Given the description of an element on the screen output the (x, y) to click on. 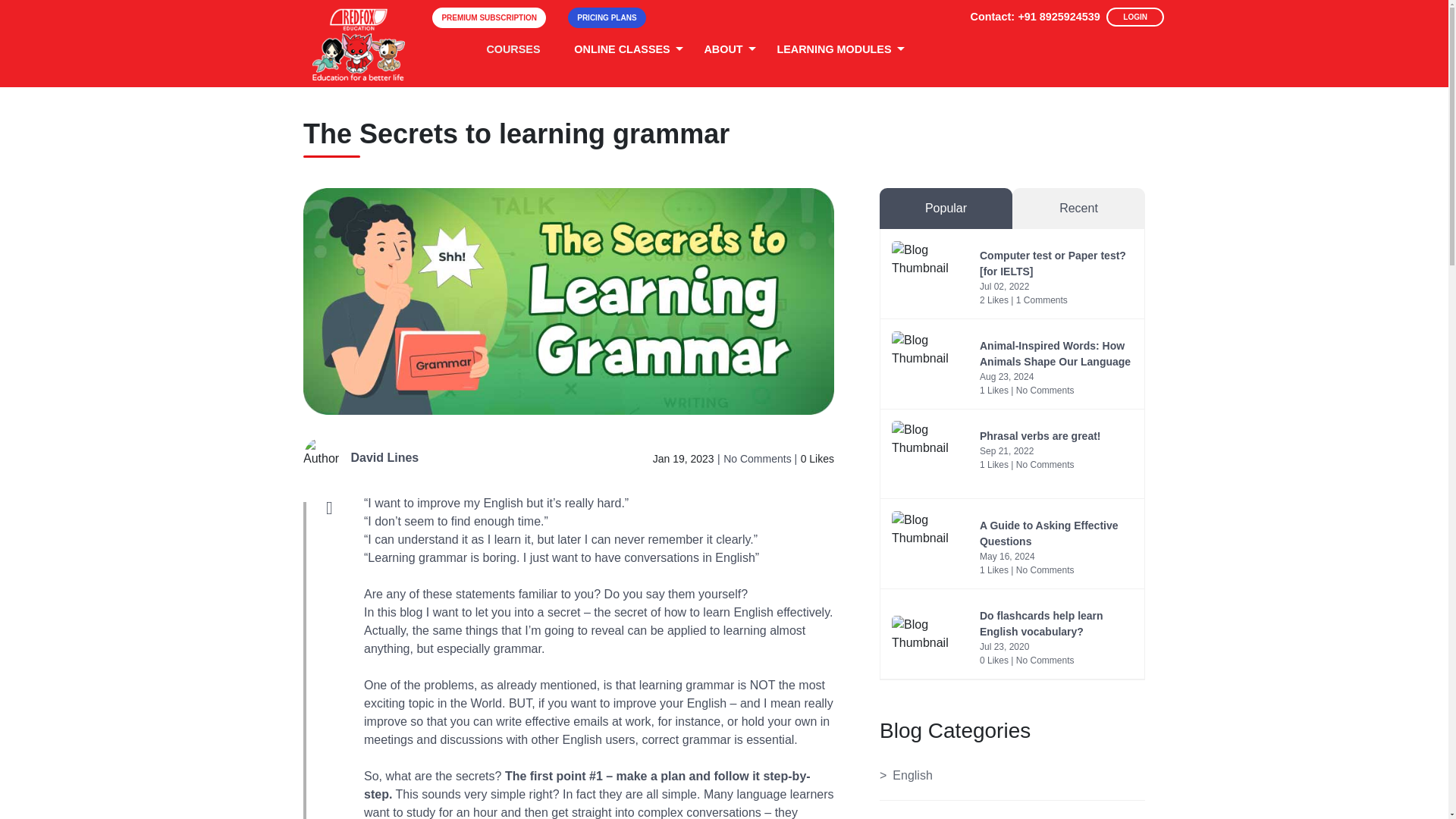
ONLINE CLASSES (621, 50)
COURSES (513, 50)
LEARNING MODULES (833, 50)
ABOUT (722, 50)
PRICING PLANS (606, 17)
LOGIN (1134, 16)
Jan 19, 2023 (683, 458)
No Comments (758, 458)
PREMIUM SUBSCRIPTION (489, 17)
